Given the description of an element on the screen output the (x, y) to click on. 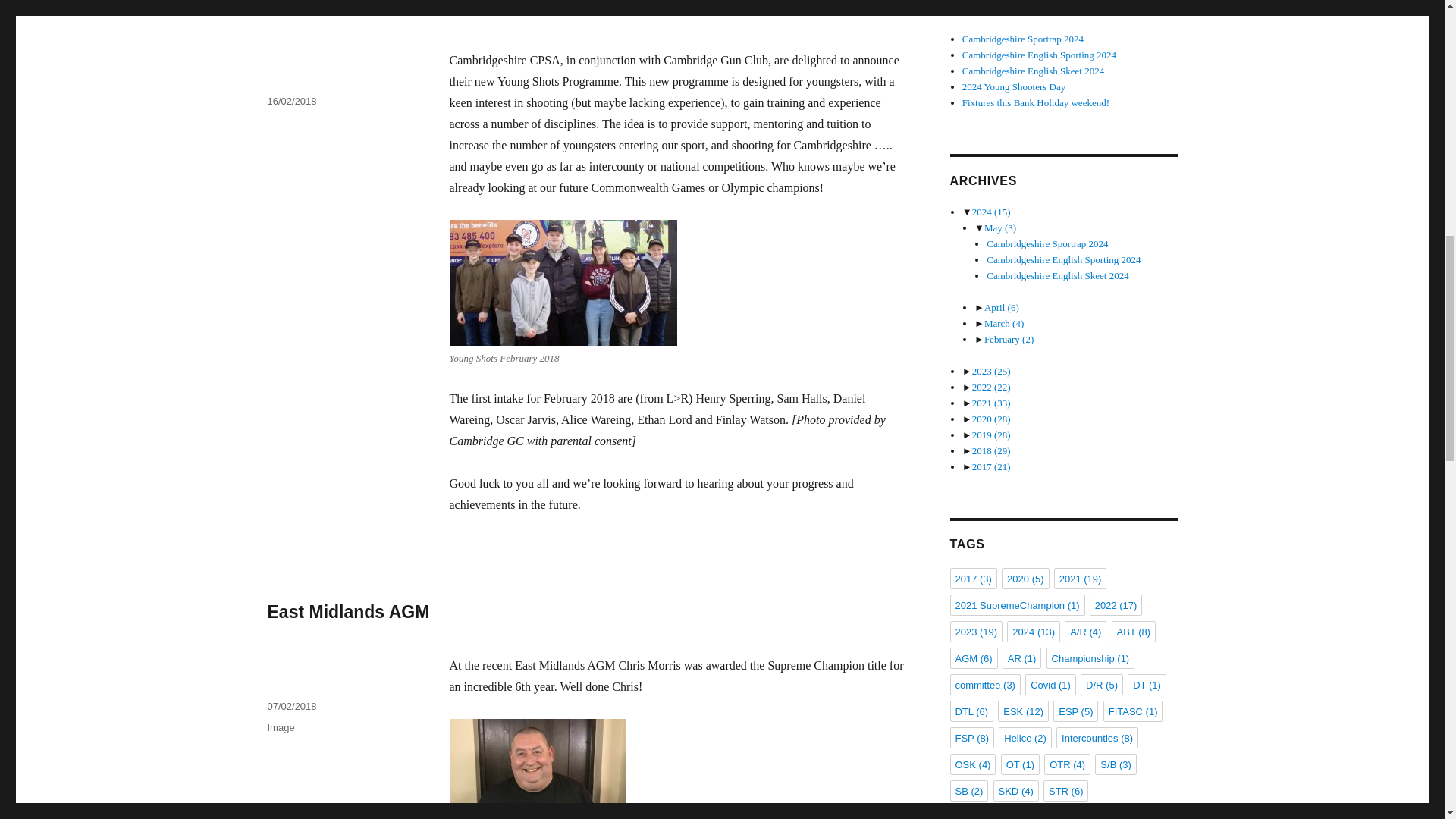
Cambridgeshire English Sporting 2024 (1063, 259)
May (1000, 227)
March (1003, 323)
April (1001, 307)
February (1008, 338)
Cambridgeshire English Skeet 2024 (1057, 275)
Cambridgeshire Sportrap 2024 (1047, 243)
